Given the description of an element on the screen output the (x, y) to click on. 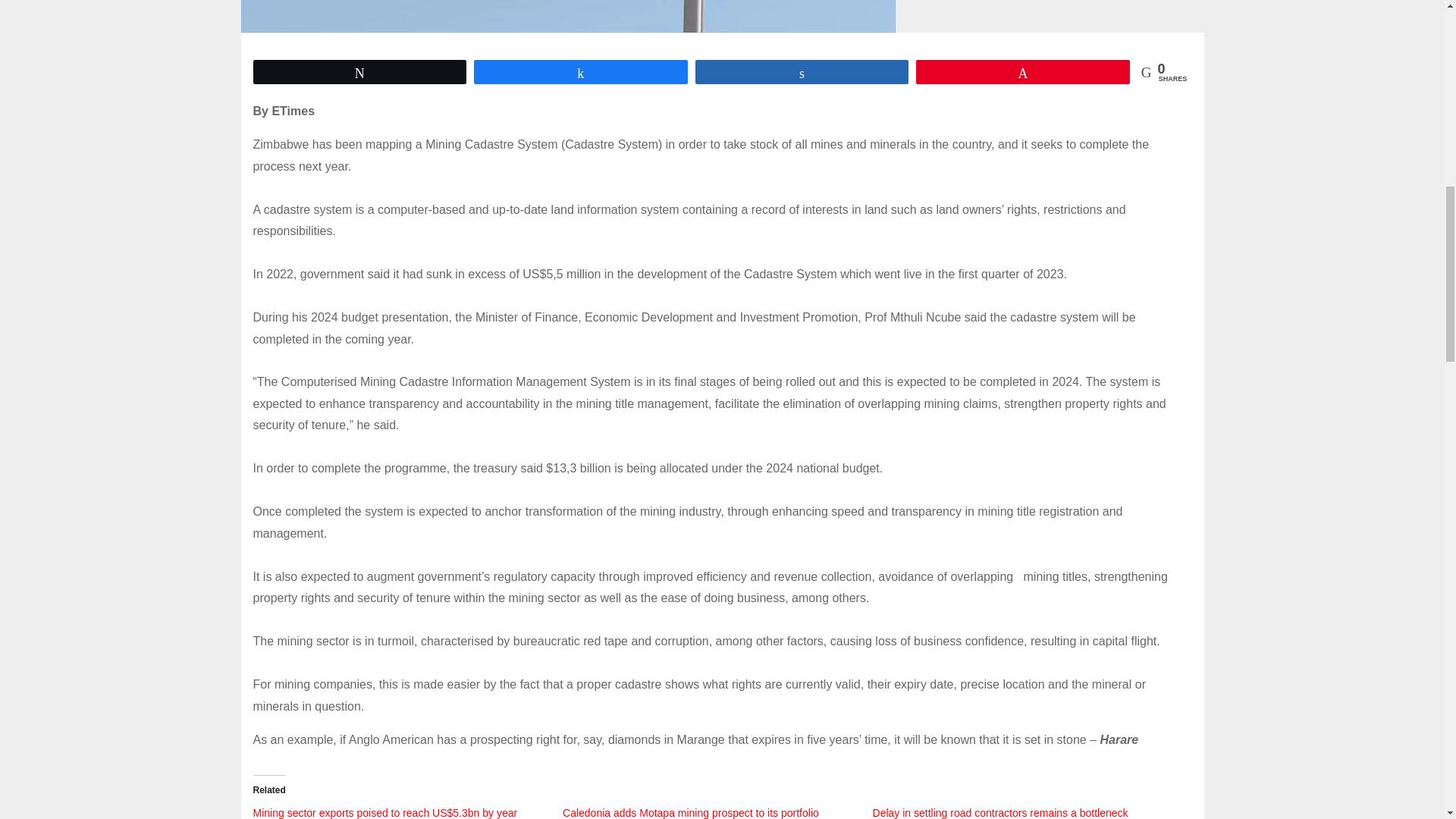
Caledonia adds Motapa mining prospect to its portfolio (690, 812)
